Given the description of an element on the screen output the (x, y) to click on. 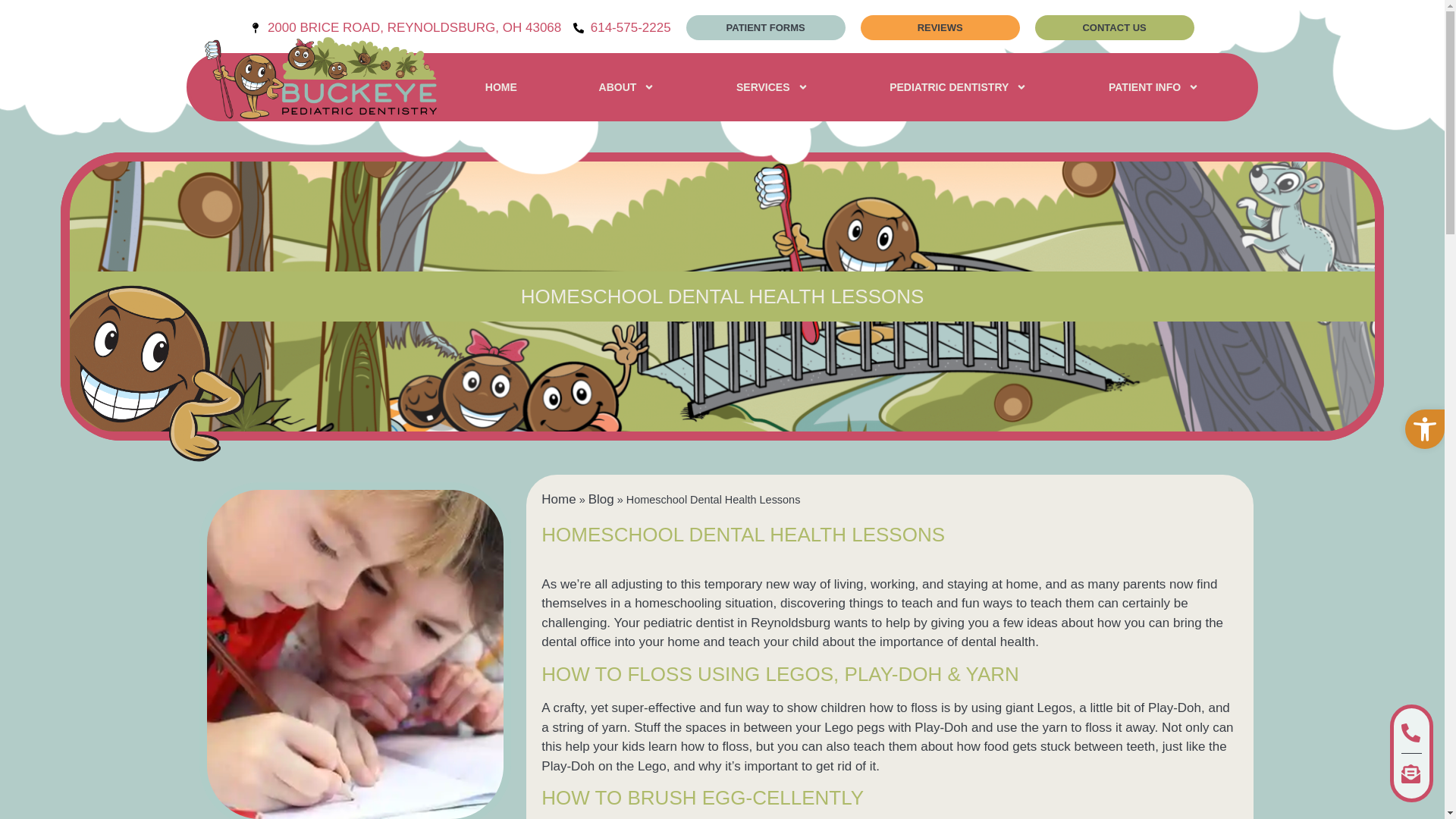
ABOUT (626, 86)
2000 BRICE ROAD, REYNOLDSBURG, OH 43068 (405, 27)
HOME (500, 86)
PATIENT FORMS (765, 27)
PEDIATRIC DENTISTRY (957, 86)
CONTACT US (1114, 27)
PATIENT INFO (1153, 86)
614-575-2225 (621, 27)
SERVICES (772, 86)
Accessibility Tools (1424, 428)
REVIEWS (940, 27)
